Given the description of an element on the screen output the (x, y) to click on. 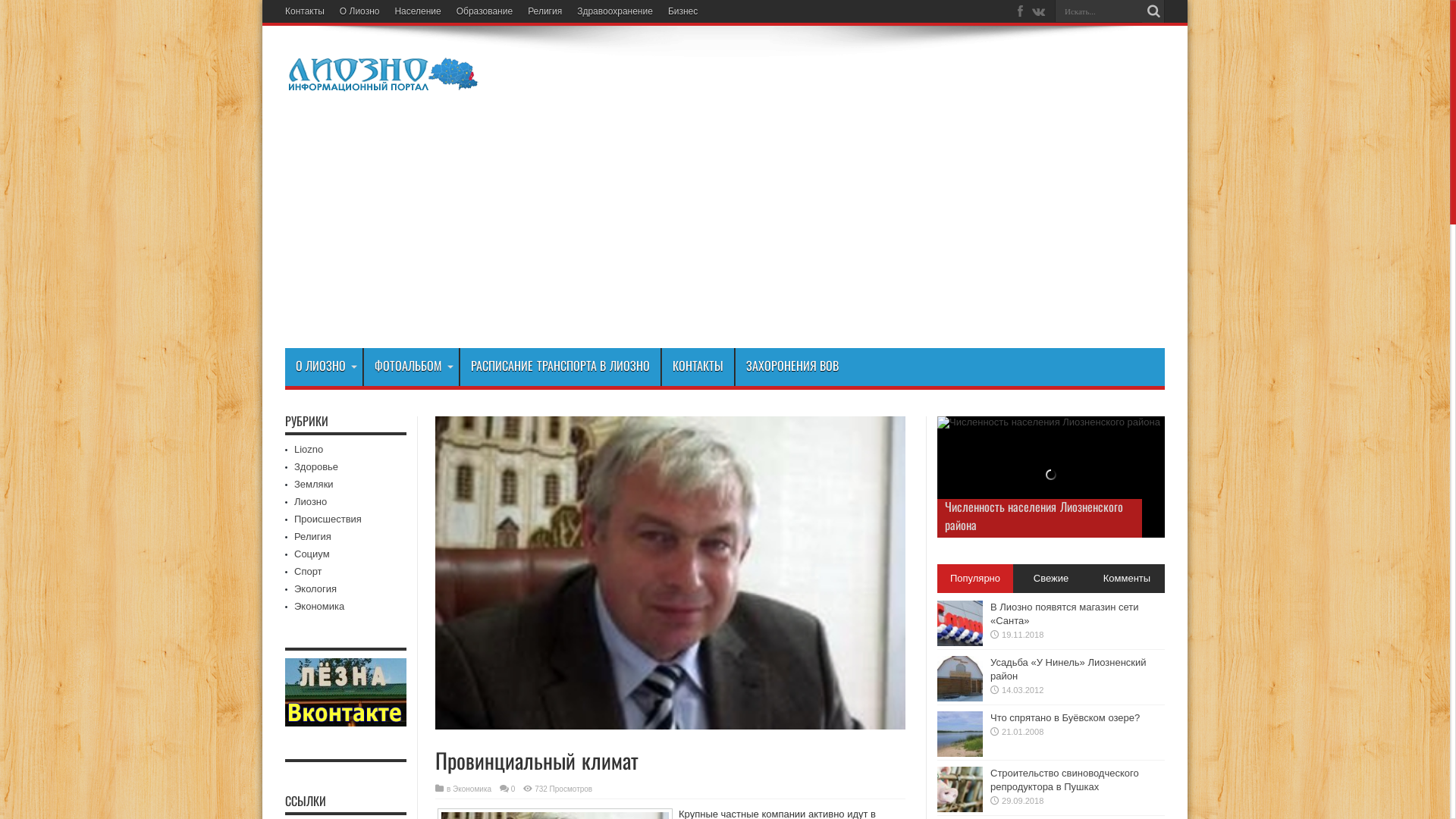
Liozno Element type: text (308, 449)
Advertisement Element type: hover (724, 234)
0 Element type: text (513, 788)
